Given the description of an element on the screen output the (x, y) to click on. 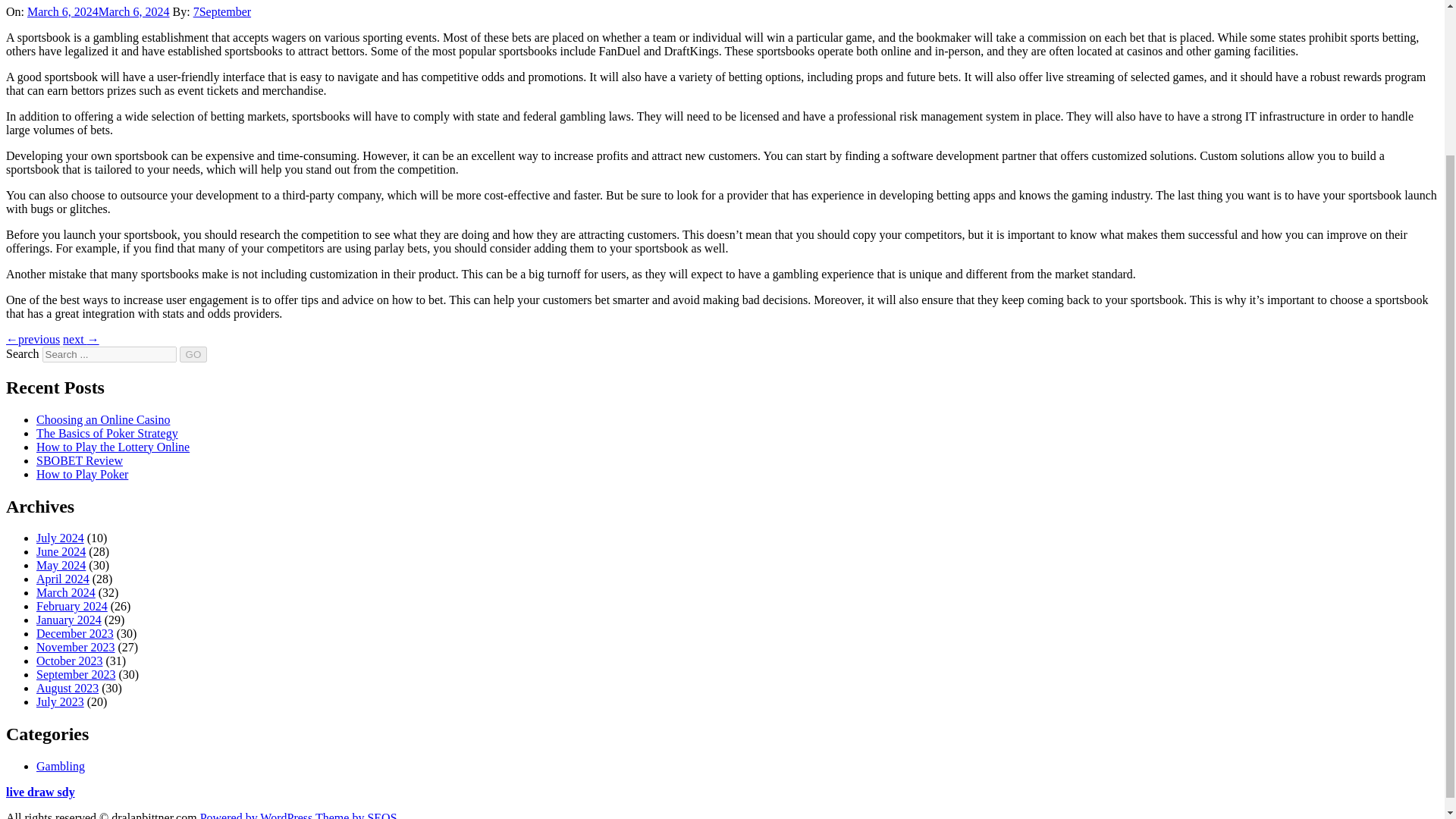
November 2023 (75, 646)
The Basics of Poker Strategy (106, 432)
How to Play the Lottery Online (112, 446)
December 2023 (74, 633)
March 2024 (66, 592)
May 2024 (60, 564)
July 2023 (60, 701)
February 2024 (71, 605)
January 2024 (68, 619)
August 2023 (67, 687)
